Given the description of an element on the screen output the (x, y) to click on. 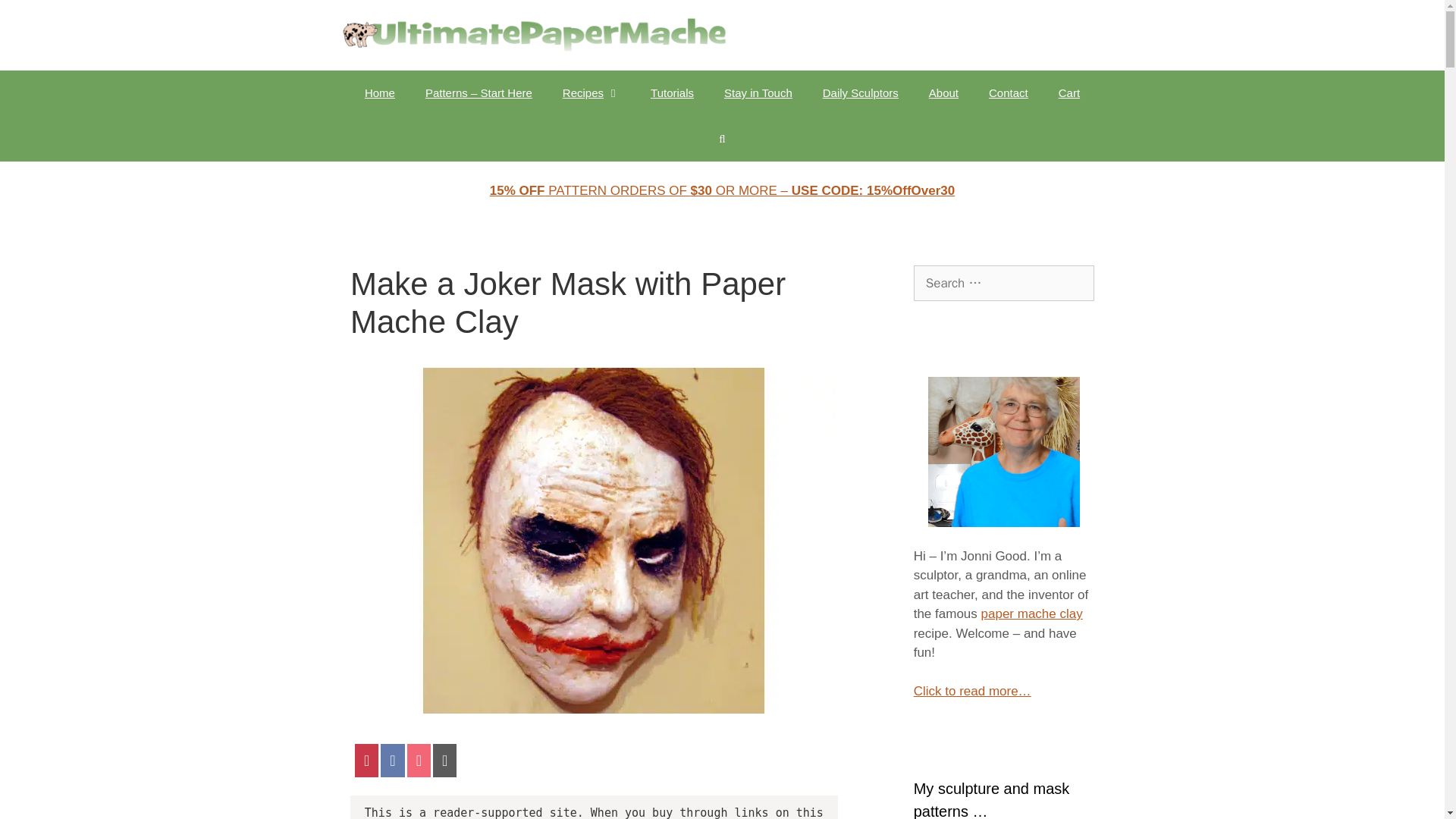
Home (379, 93)
Cart (1068, 93)
Stay in Touch (758, 93)
Contact (1008, 93)
Daily Sculptors (861, 93)
About (944, 93)
Tutorials (671, 93)
Recipes (590, 93)
About the Artist (944, 93)
Make a Joker Mask with Paper Mache Clay 1 (592, 708)
